Given the description of an element on the screen output the (x, y) to click on. 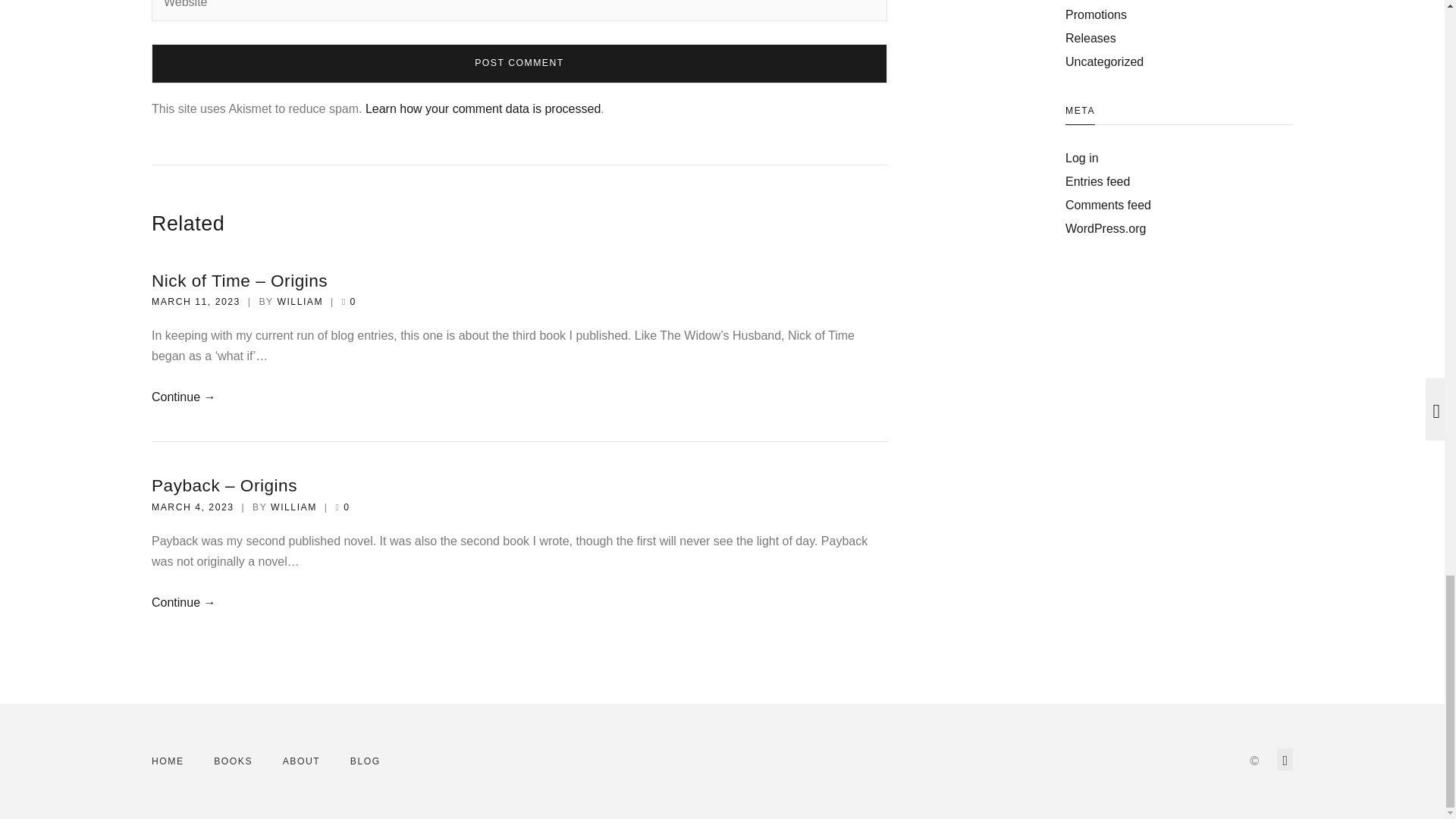
WILLIAM (299, 301)
Learn how your comment data is processed (482, 108)
MARCH 4, 2023 (192, 507)
MARCH 11, 2023 (195, 301)
Post Comment (518, 63)
Post Comment (518, 63)
0 (353, 301)
